Given the description of an element on the screen output the (x, y) to click on. 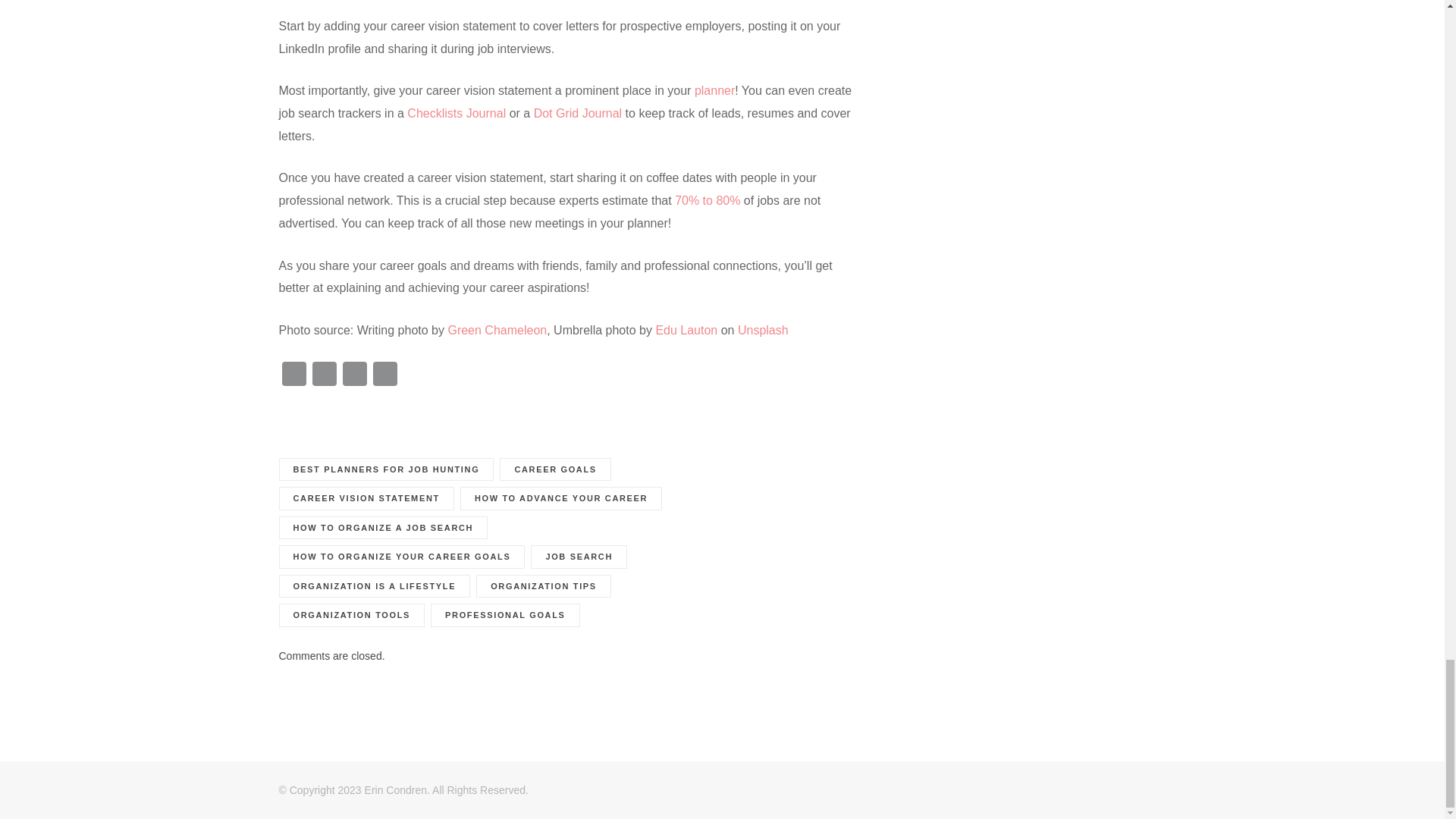
planner (714, 90)
Facebook (293, 375)
Pinterest (354, 375)
Twitter (323, 375)
